Given the description of an element on the screen output the (x, y) to click on. 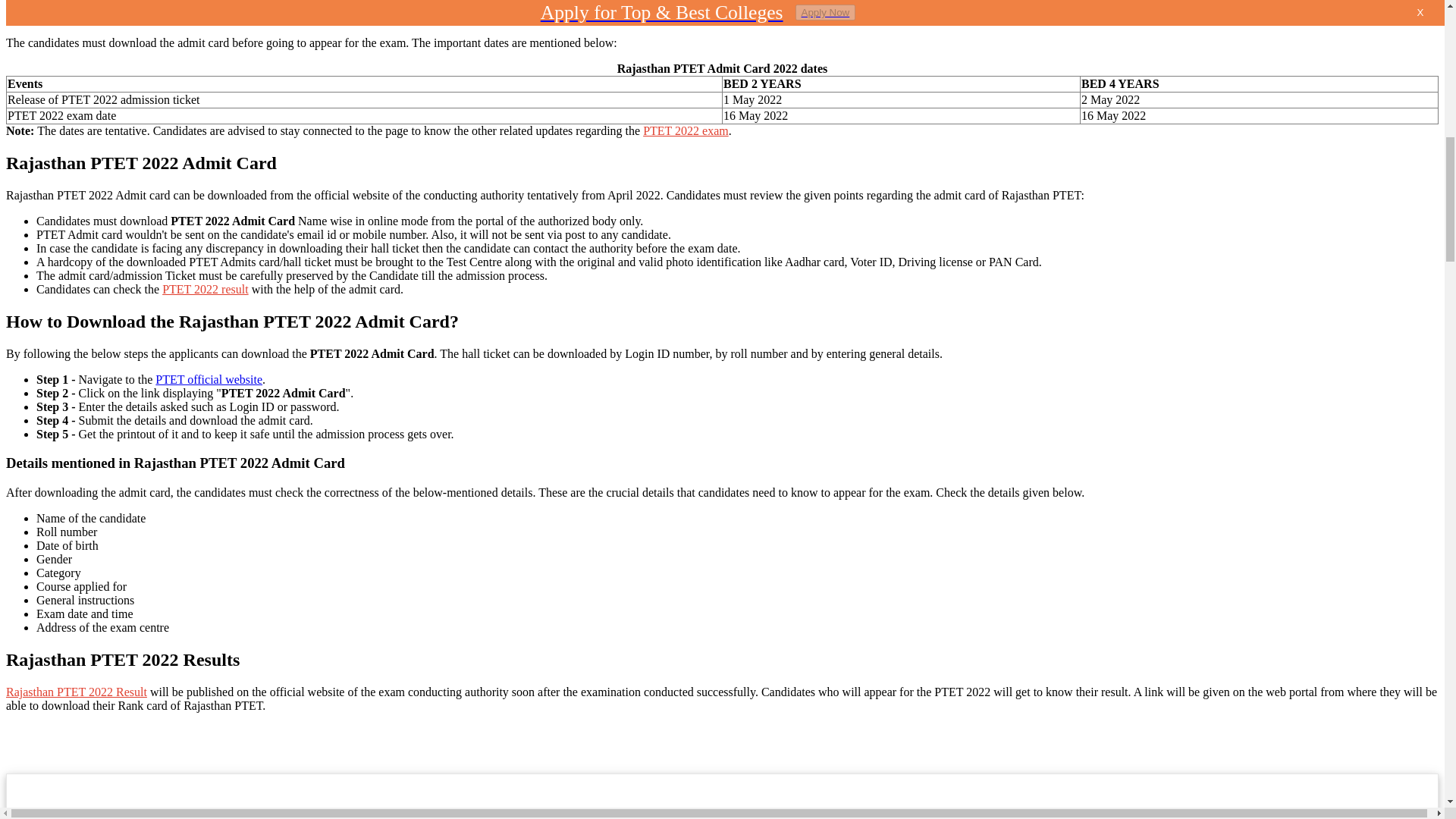
Rajasthan PTET 2022 Result (76, 691)
PTET 2022 exam (686, 130)
PTET 2022 result (204, 288)
PTET official website (208, 379)
